Given the description of an element on the screen output the (x, y) to click on. 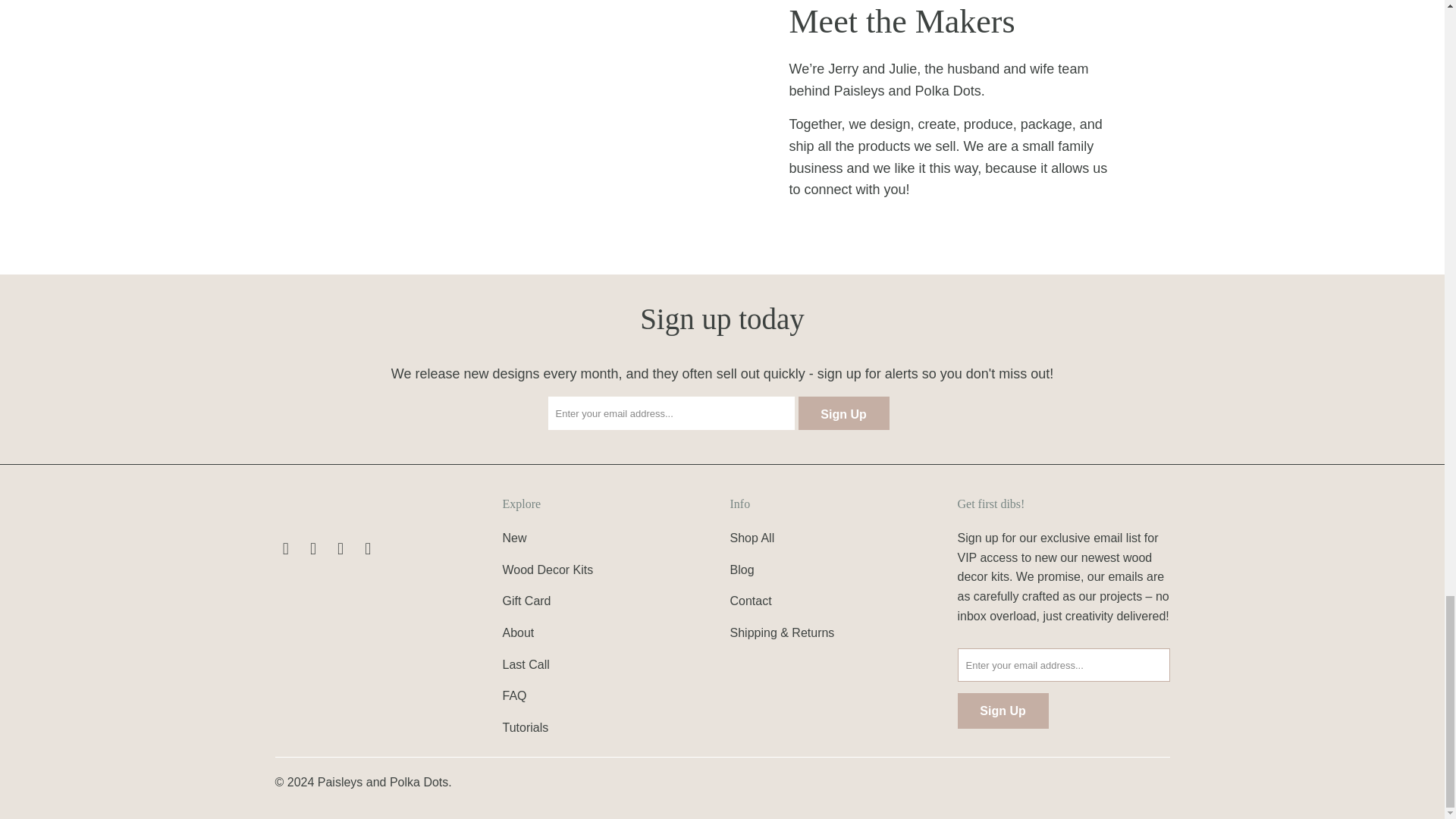
Meet the Makers (494, 129)
Paisleys and Polka Dots on Instagram (368, 548)
Paisleys and Polka Dots on Pinterest (341, 548)
Sign Up (1002, 710)
Sign Up (842, 412)
Paisleys and Polka Dots on YouTube (313, 548)
Paisleys and Polka Dots on Facebook (286, 548)
